Given the description of an element on the screen output the (x, y) to click on. 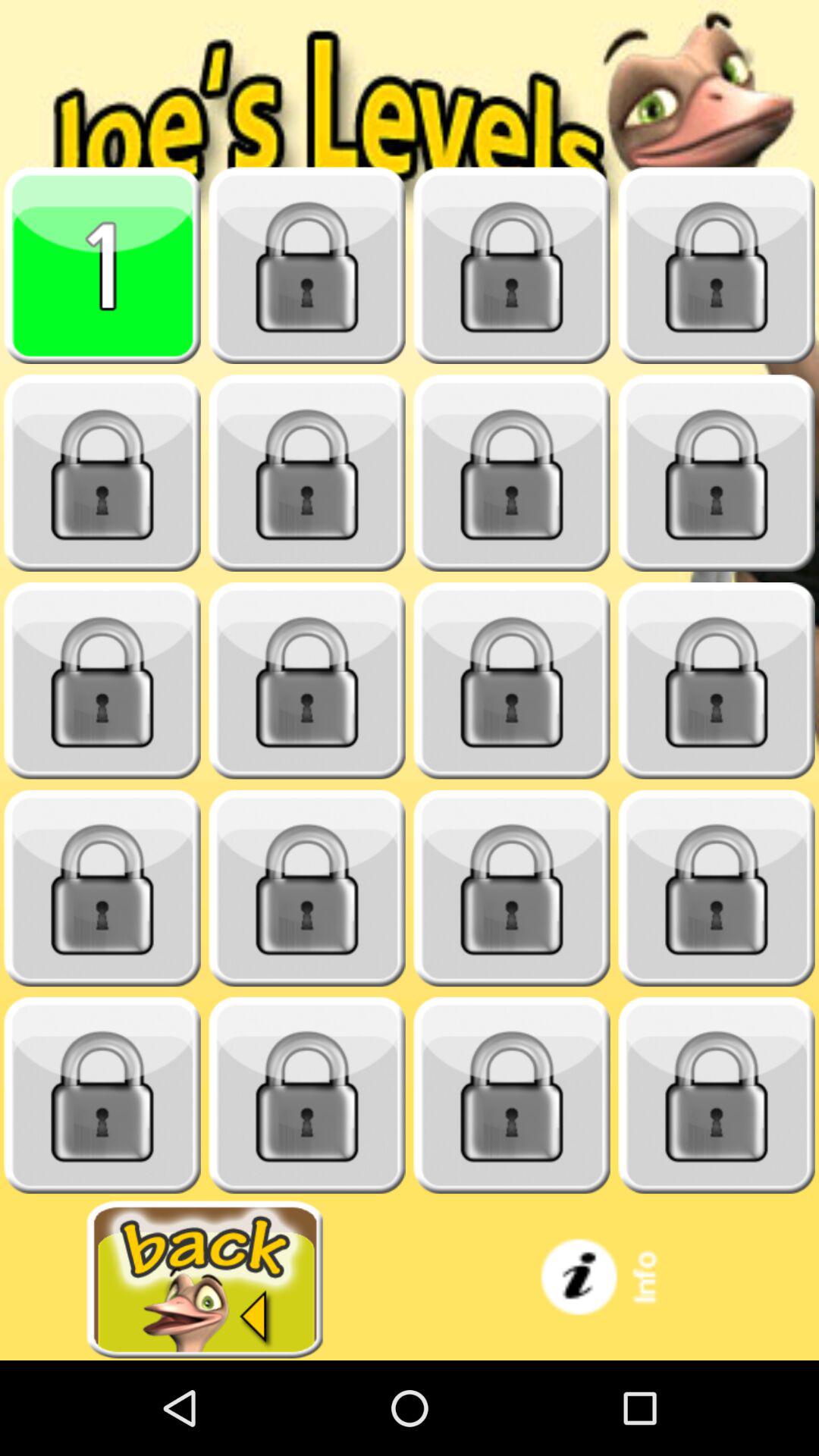
select level (716, 265)
